Given the description of an element on the screen output the (x, y) to click on. 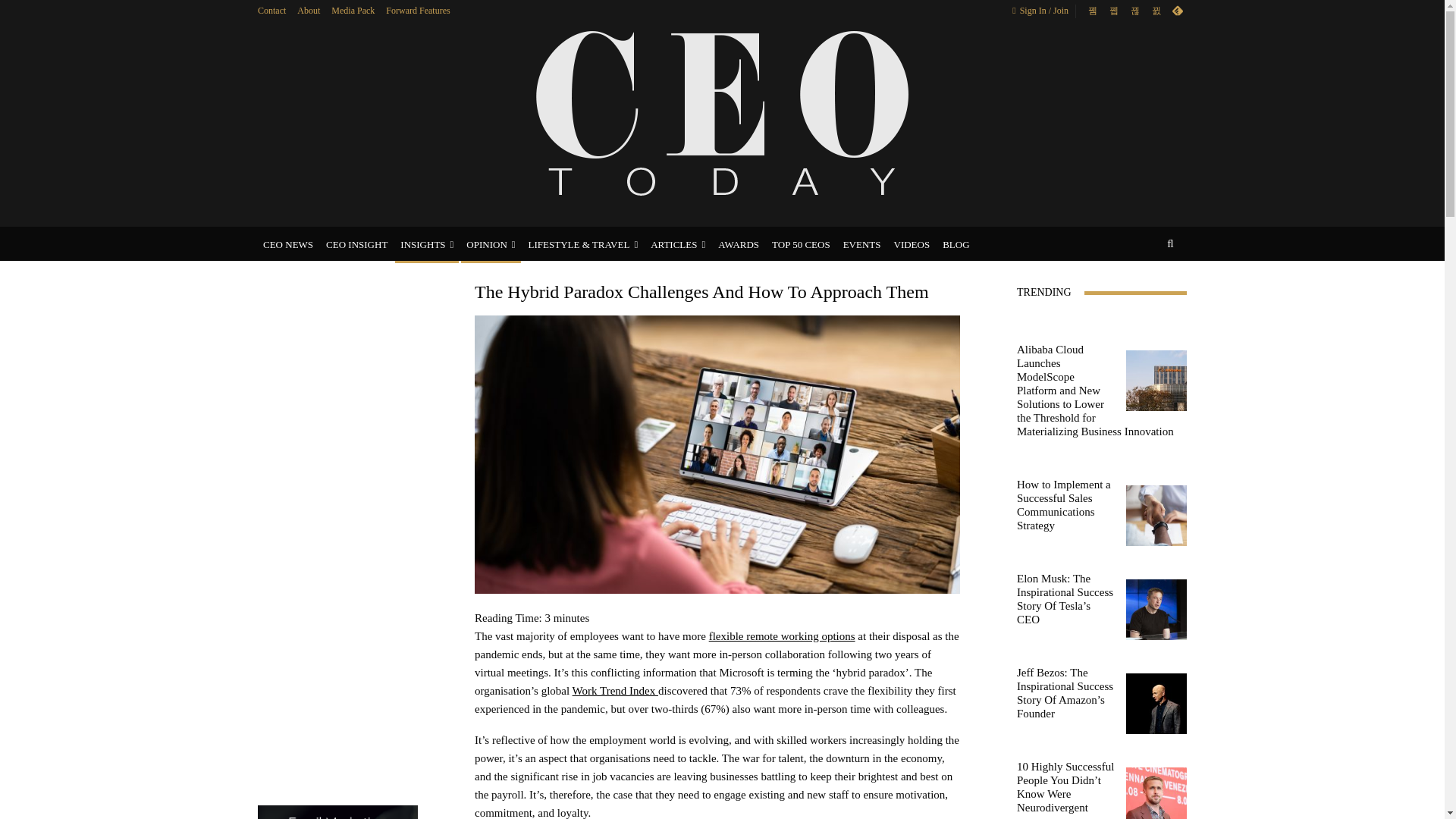
CEO NEWS (287, 244)
Media Pack (352, 9)
About (308, 9)
Contact (271, 9)
OPINION (490, 244)
INSIGHTS (426, 244)
Forward Features (417, 9)
CEO INSIGHT (356, 244)
